Given the description of an element on the screen output the (x, y) to click on. 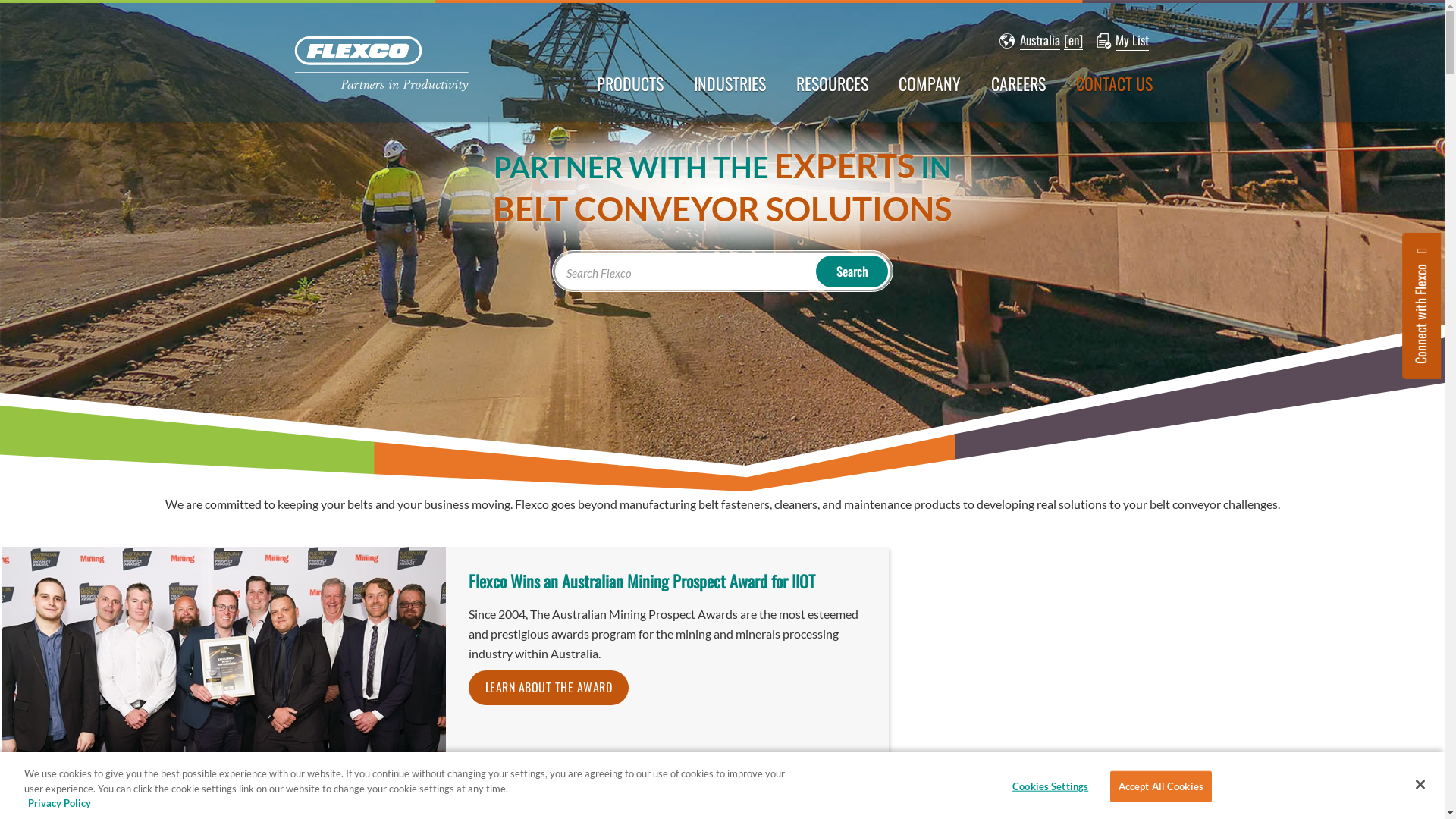
LEARN ABOUT THE AWARD Element type: text (548, 687)
PRODUCTS Element type: text (629, 90)
CONTACT US Element type: text (1113, 90)
My List Element type: text (1131, 40)
COMPANY Element type: text (929, 90)
Cookies Settings Element type: text (1050, 786)
CAREERS Element type: text (1017, 90)
RESOURCES Element type: text (832, 90)
Accept All Cookies Element type: text (1160, 786)
Search Element type: text (851, 271)
Privacy Policy Element type: text (411, 803)
Flexco Wins an Australian Mining Prospect Award for IIOT Element type: text (641, 580)
INDUSTRIES Element type: text (729, 90)
Australia Element type: text (1029, 40)
[en] Element type: text (1072, 40)
